Given the description of an element on the screen output the (x, y) to click on. 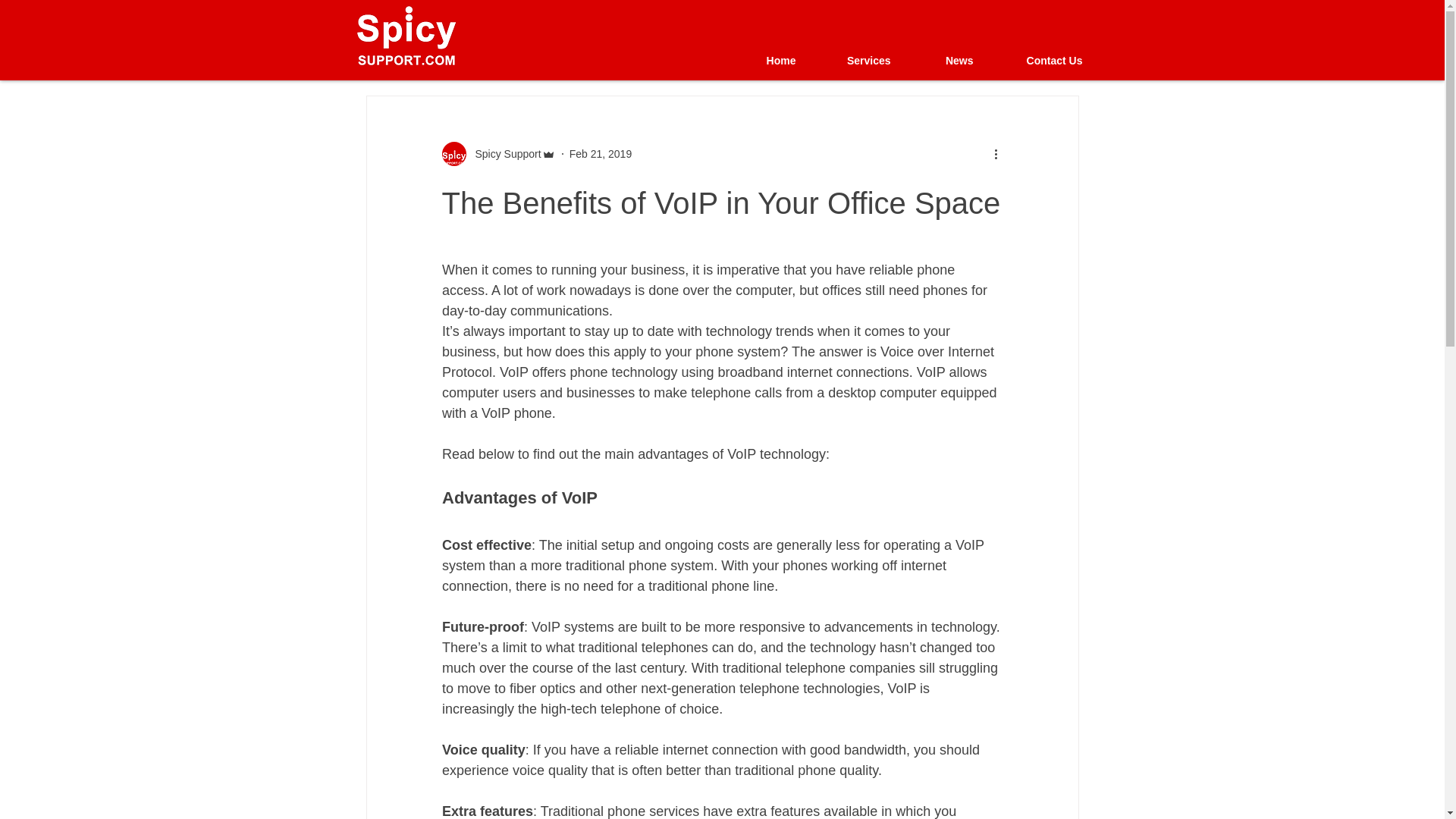
Home (765, 60)
Feb 21, 2019 (600, 152)
Spicy Support (502, 153)
Contact Us (1038, 60)
News (943, 60)
